Given the description of an element on the screen output the (x, y) to click on. 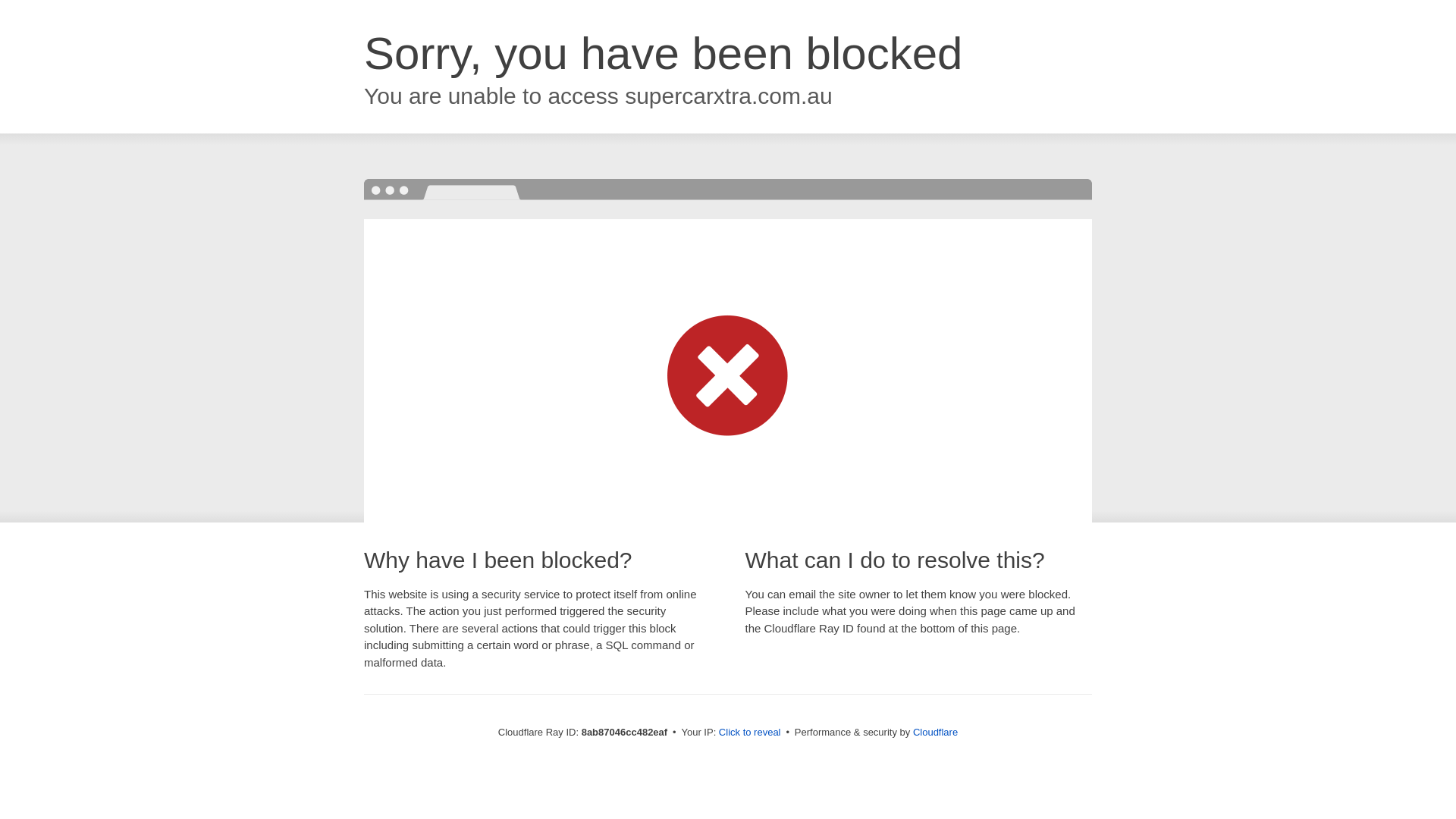
Cloudflare (935, 731)
Click to reveal (749, 732)
